Given the description of an element on the screen output the (x, y) to click on. 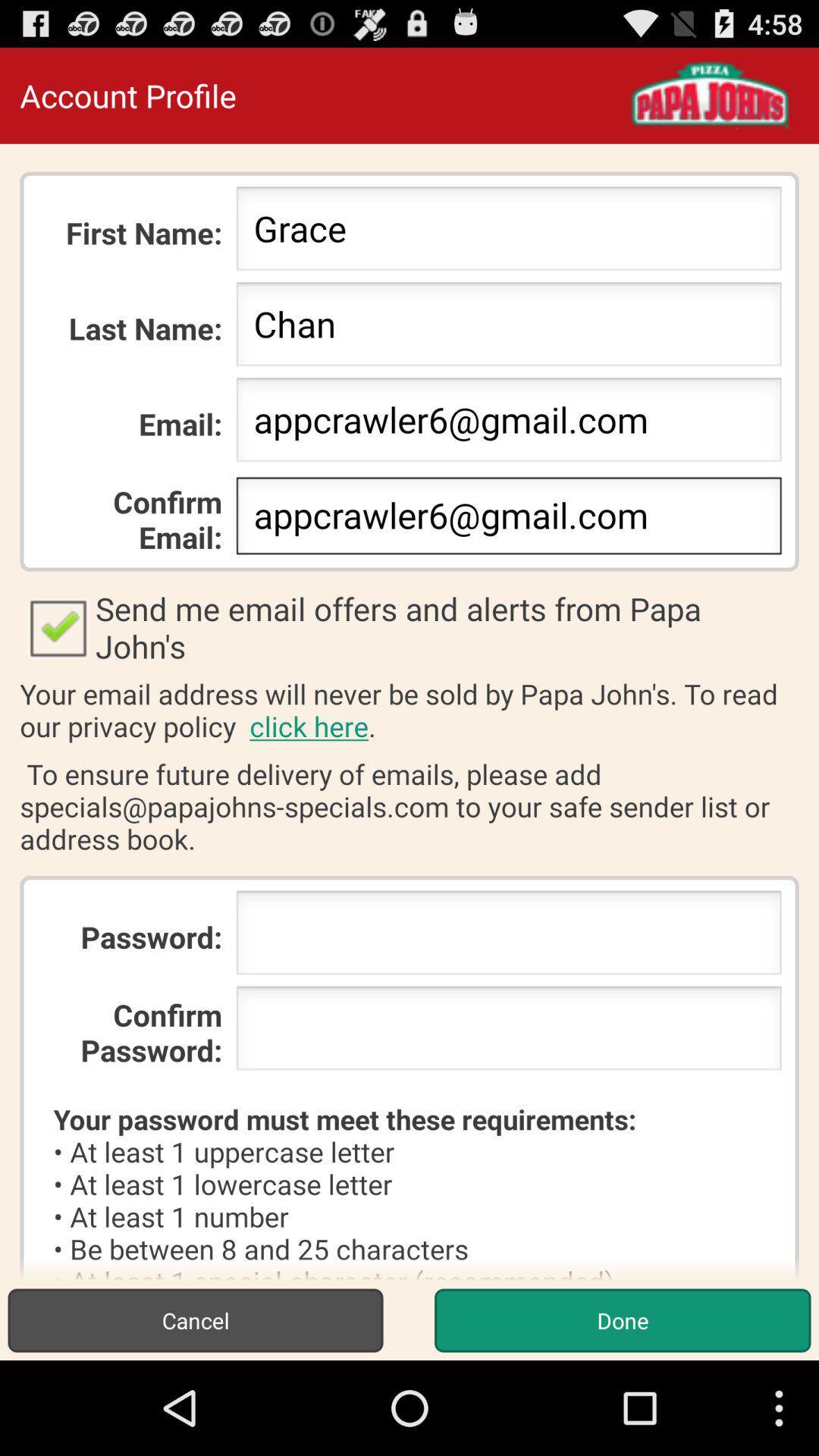
select cancel button (195, 1320)
